Given the description of an element on the screen output the (x, y) to click on. 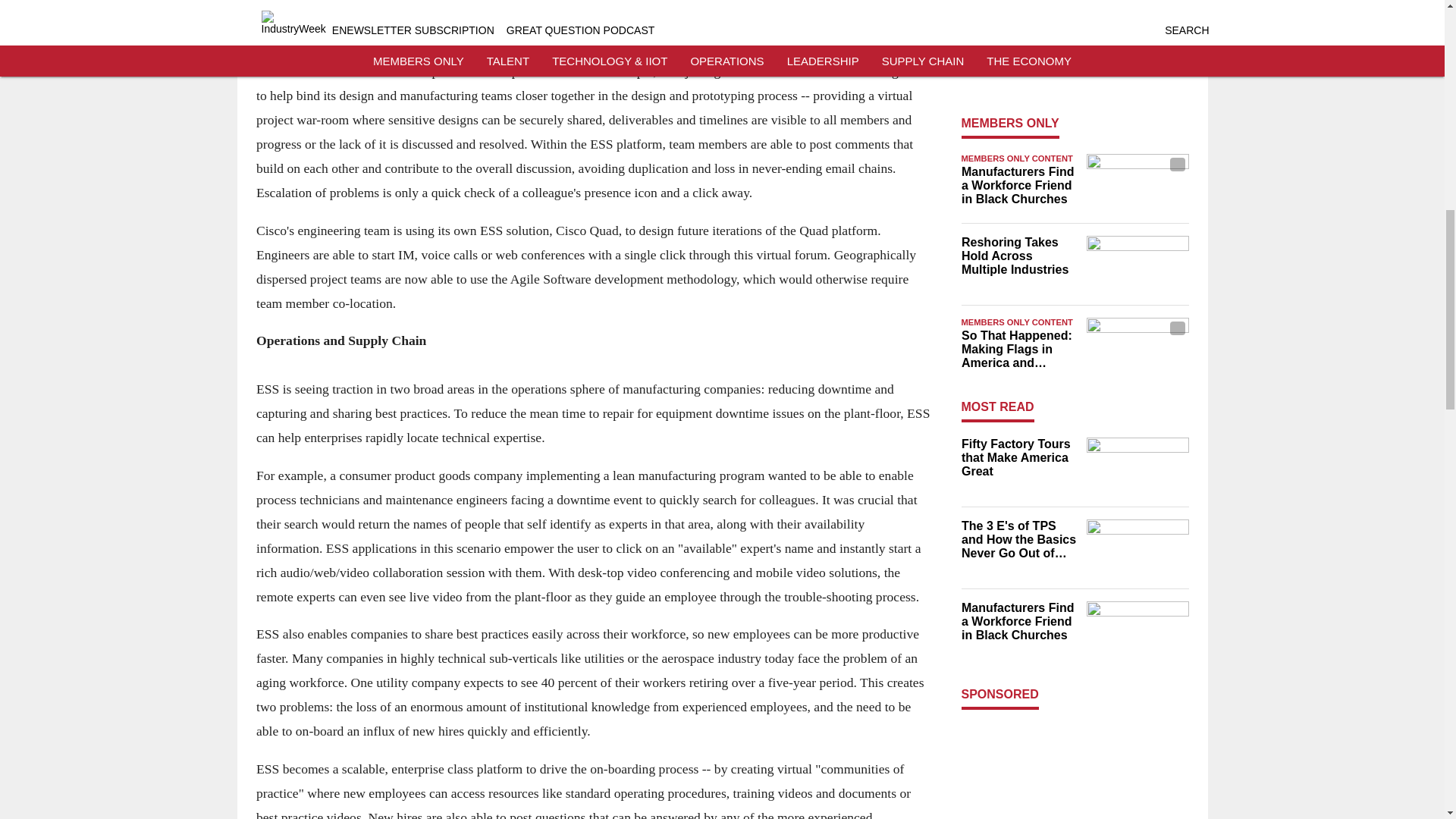
Reshoring Takes Hold Across Multiple Industries (1019, 255)
Manufacturers Find a Workforce Friend in Black Churches (1019, 185)
MEMBERS ONLY (1009, 123)
